Given the description of an element on the screen output the (x, y) to click on. 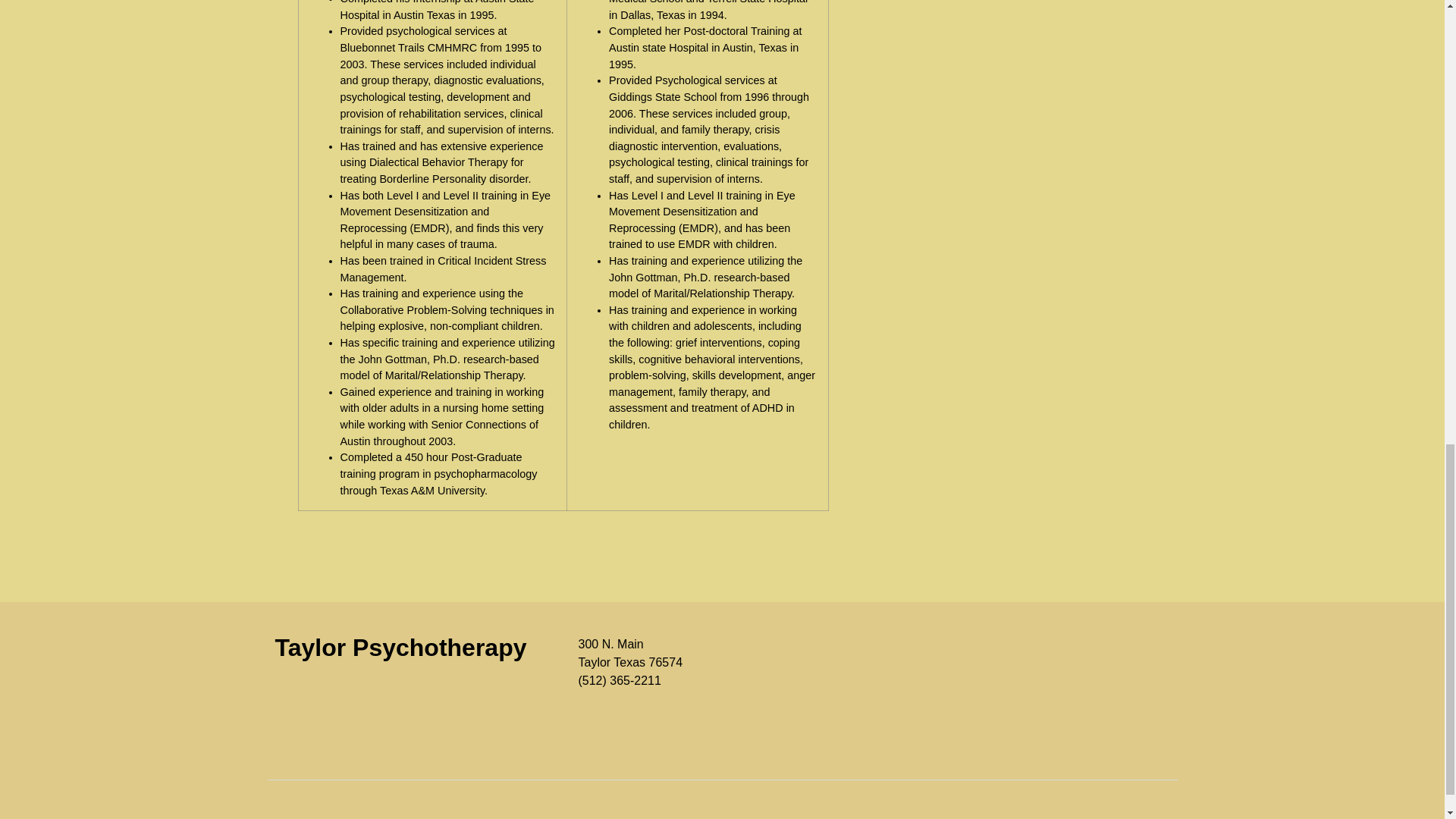
300 N. Main Taylor Texas 76574 (1024, 692)
Taylor Psychotherapy (400, 646)
